Given the description of an element on the screen output the (x, y) to click on. 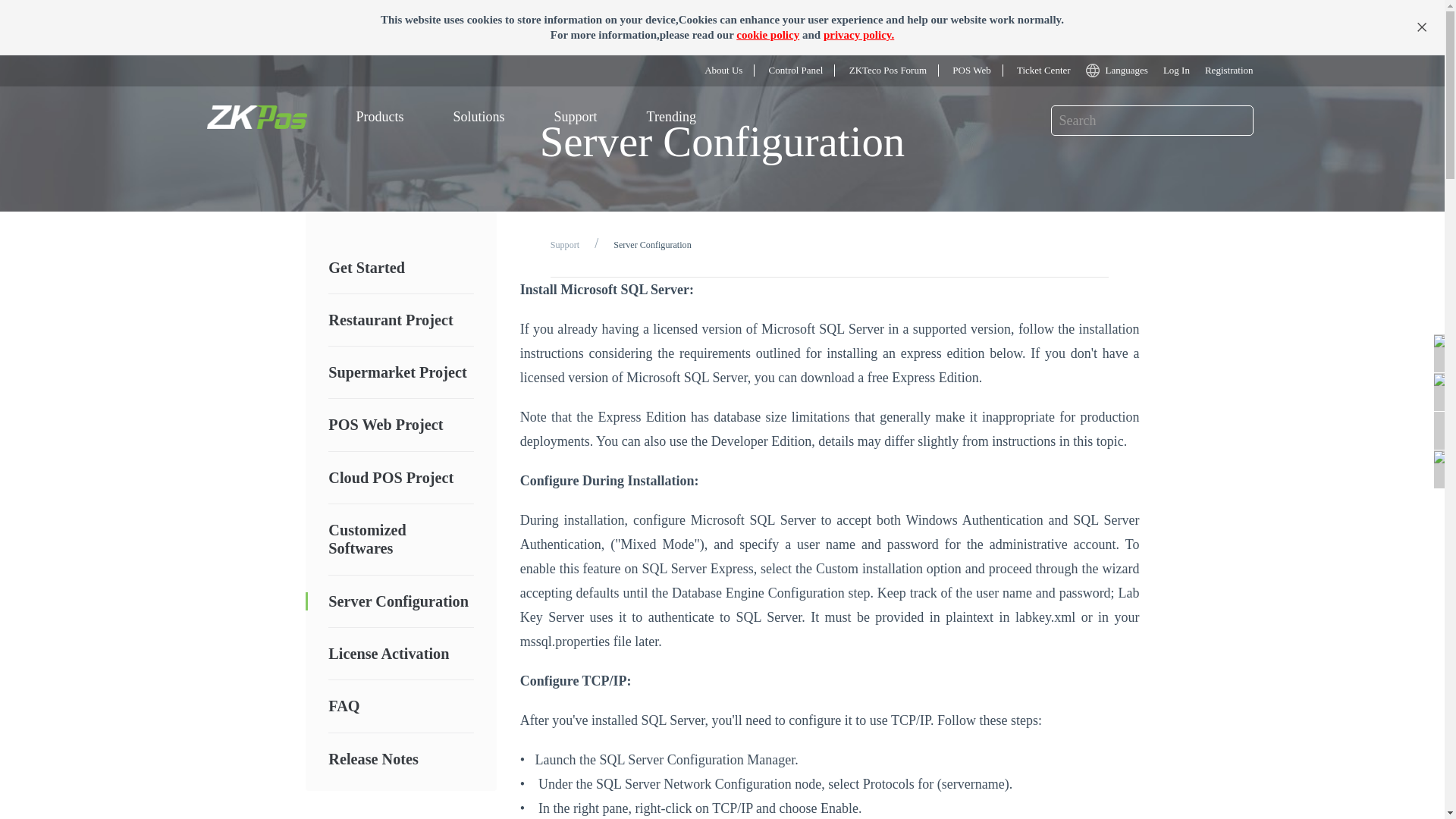
privacy policy. (858, 34)
Control Panel (832, 70)
Registration (1235, 70)
Log In (1185, 70)
Products (421, 129)
Languages (1137, 70)
About Us (763, 70)
POS Web (1002, 70)
ZKTeco Pos Forum (922, 70)
Ticket Center (1067, 70)
cookie policy (767, 34)
